Given the description of an element on the screen output the (x, y) to click on. 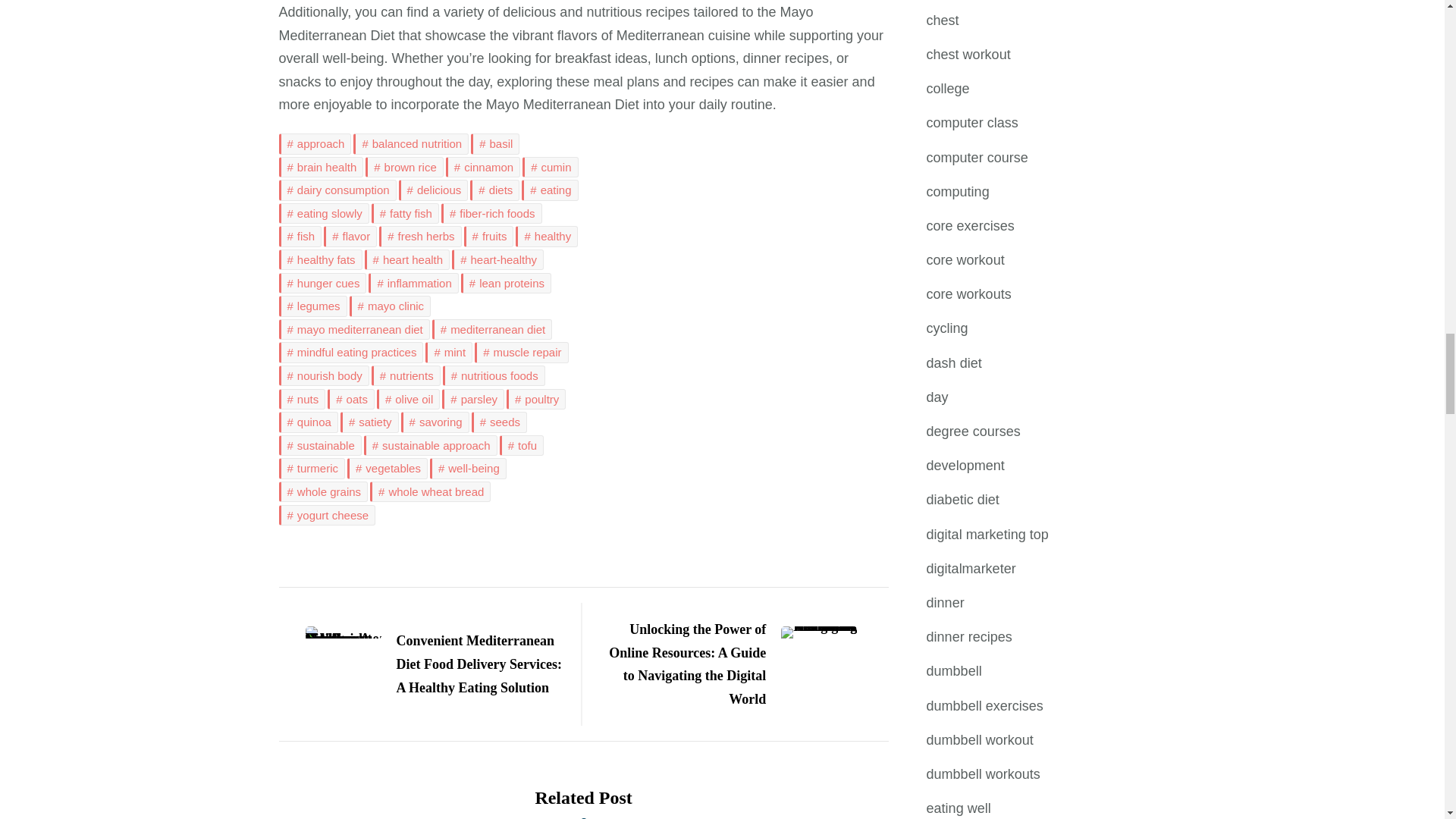
eating (549, 189)
dairy consumption (337, 189)
diets (494, 189)
basil (494, 143)
fiber-rich foods (491, 213)
balanced nutrition (410, 143)
brain health (321, 167)
fatty fish (405, 213)
flavor (350, 236)
approach (315, 143)
delicious (433, 189)
eating slowly (324, 213)
fresh herbs (419, 236)
fish (300, 236)
brown rice (404, 167)
